Given the description of an element on the screen output the (x, y) to click on. 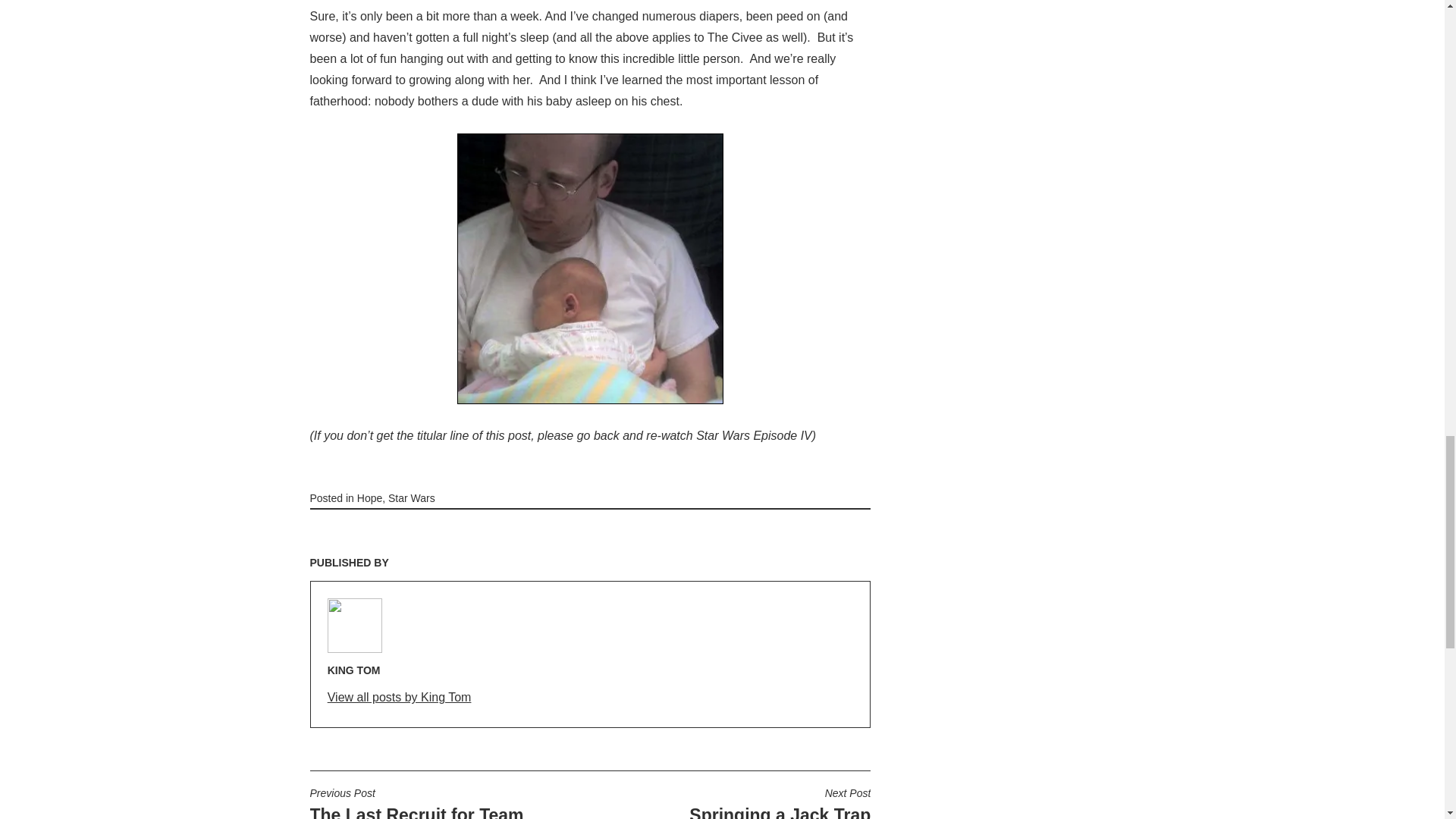
Don't bother me. My daughter's asleep. (779, 802)
Star Wars (445, 802)
Hope (590, 268)
View all posts by King Tom (411, 498)
